Given the description of an element on the screen output the (x, y) to click on. 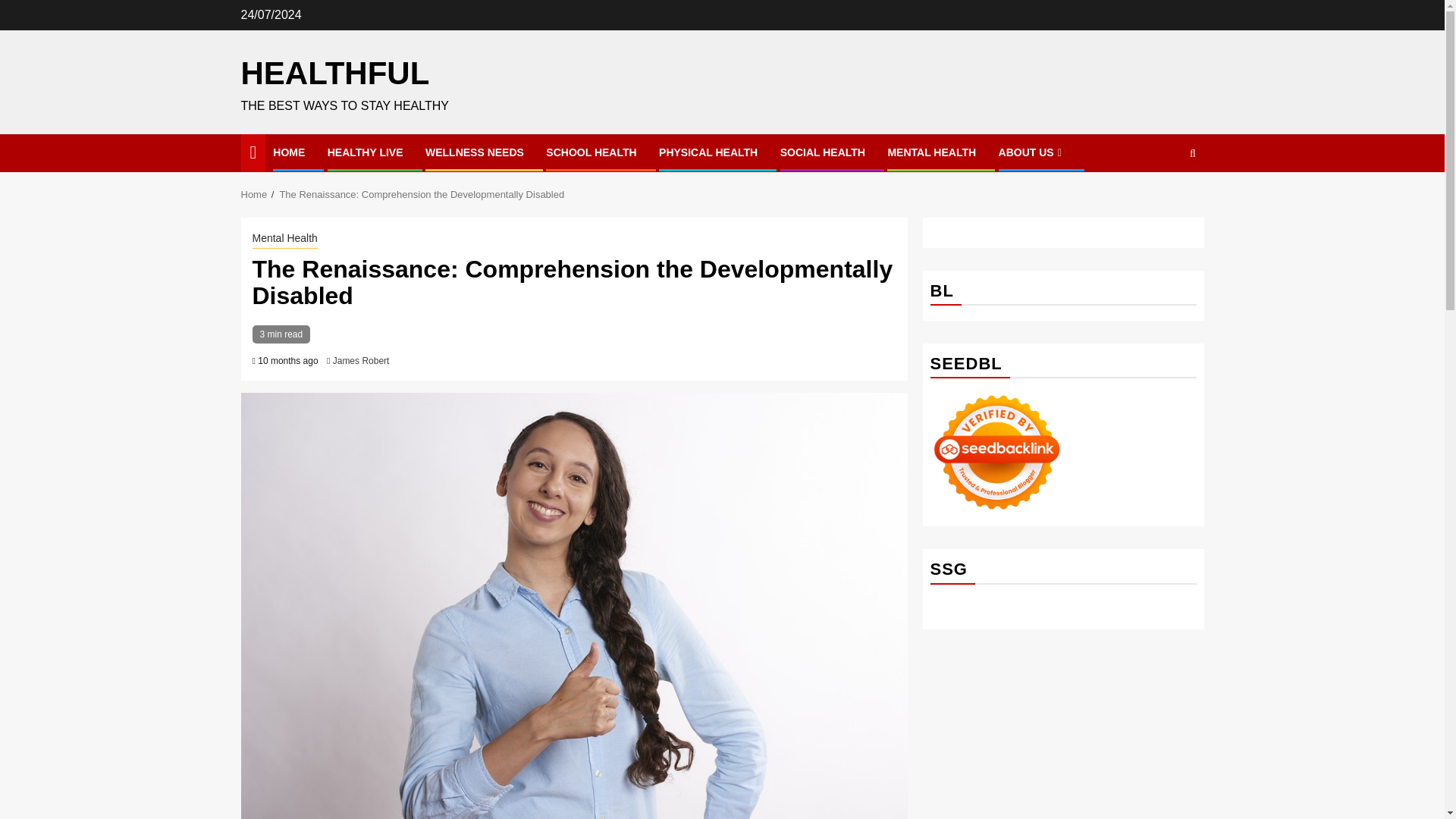
ABOUT US (1031, 152)
Mental Health (284, 239)
PHYSICAL HEALTH (708, 152)
HEALTHFUL (335, 72)
Search (1163, 199)
Seedbacklink (996, 452)
HEALTHY LIVE (365, 152)
The Renaissance: Comprehension the Developmentally Disabled (421, 194)
WELLNESS NEEDS (474, 152)
James Robert (361, 360)
Home (254, 194)
MENTAL HEALTH (930, 152)
SOCIAL HEALTH (822, 152)
HOME (288, 152)
